Given the description of an element on the screen output the (x, y) to click on. 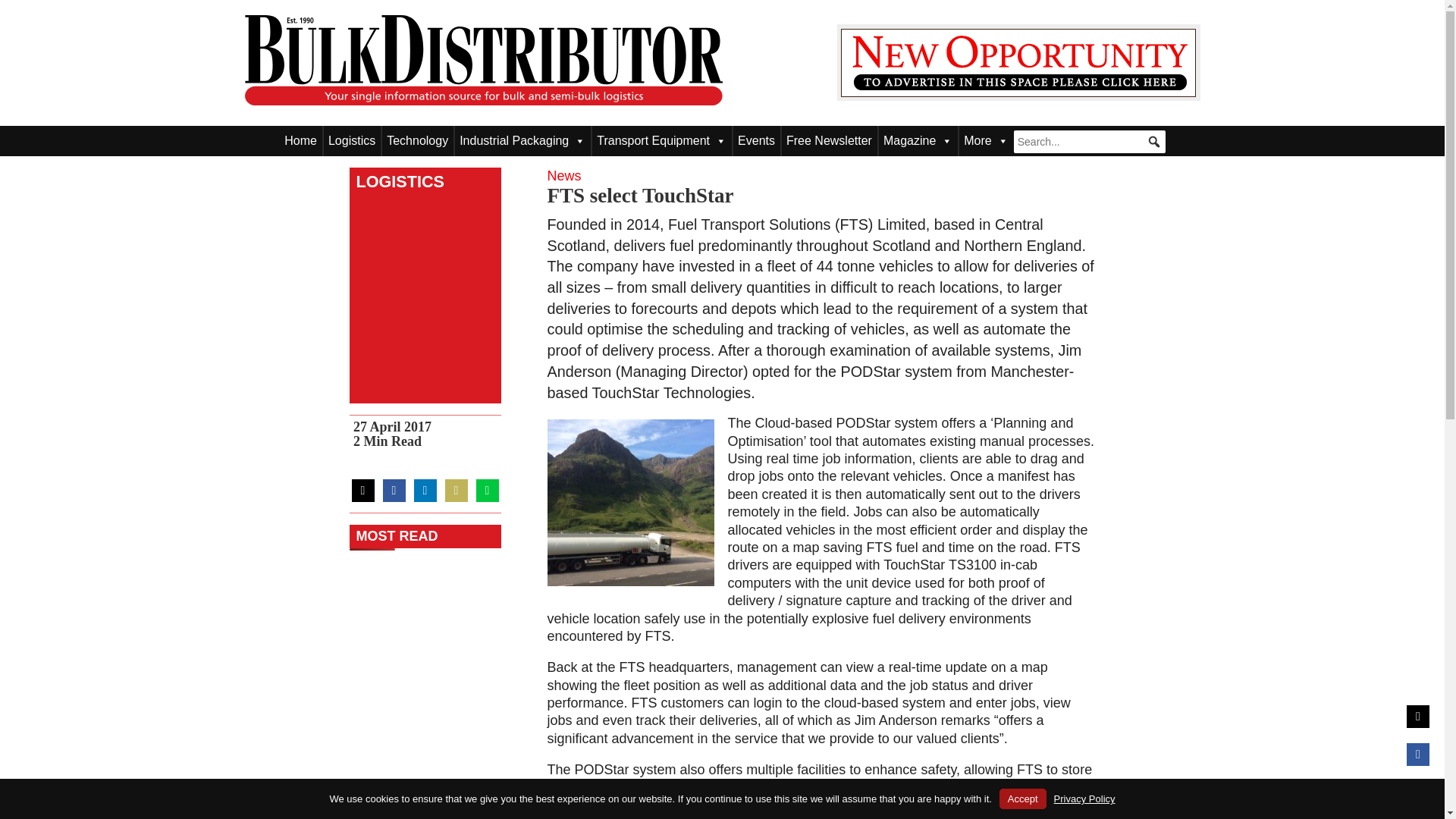
Logistics (351, 141)
Home (300, 141)
Share on Facebook (392, 490)
Share on WhatsApp (487, 490)
Share on LinkedIn (424, 490)
Search (22, 8)
Events (756, 141)
LOGISTICS (396, 181)
Magazine (917, 141)
Technology (416, 141)
